Given the description of an element on the screen output the (x, y) to click on. 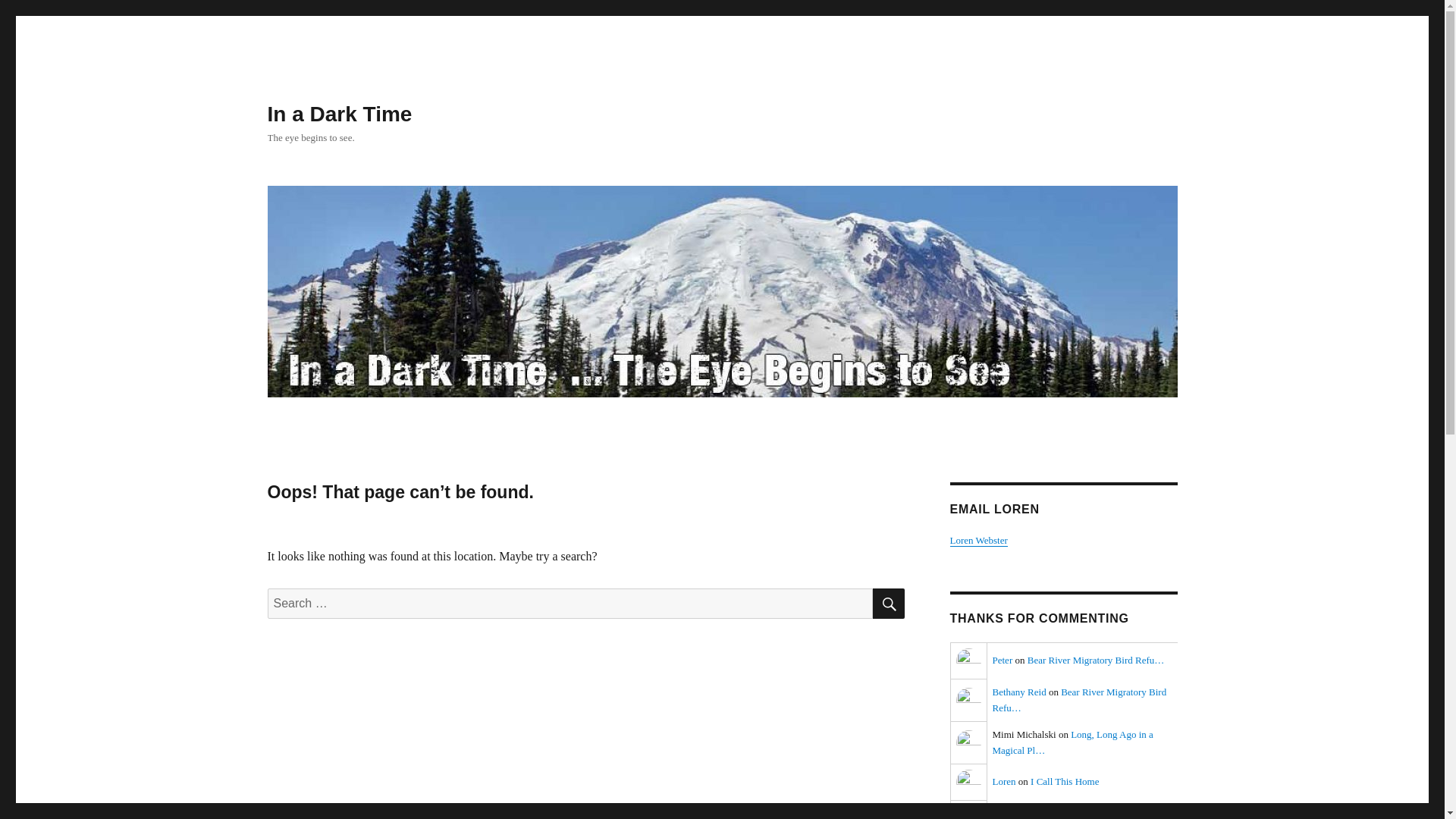
Peter (968, 660)
Brian Harris (968, 809)
Loren (968, 782)
Loren (1002, 781)
I Call This Home (1090, 815)
Brian Harris (1016, 815)
Bethany Reid (1018, 691)
SEARCH (888, 603)
Loren Webster (978, 540)
In a Dark Time (339, 114)
I Call This Home (1064, 781)
Peter (1001, 659)
